Given the description of an element on the screen output the (x, y) to click on. 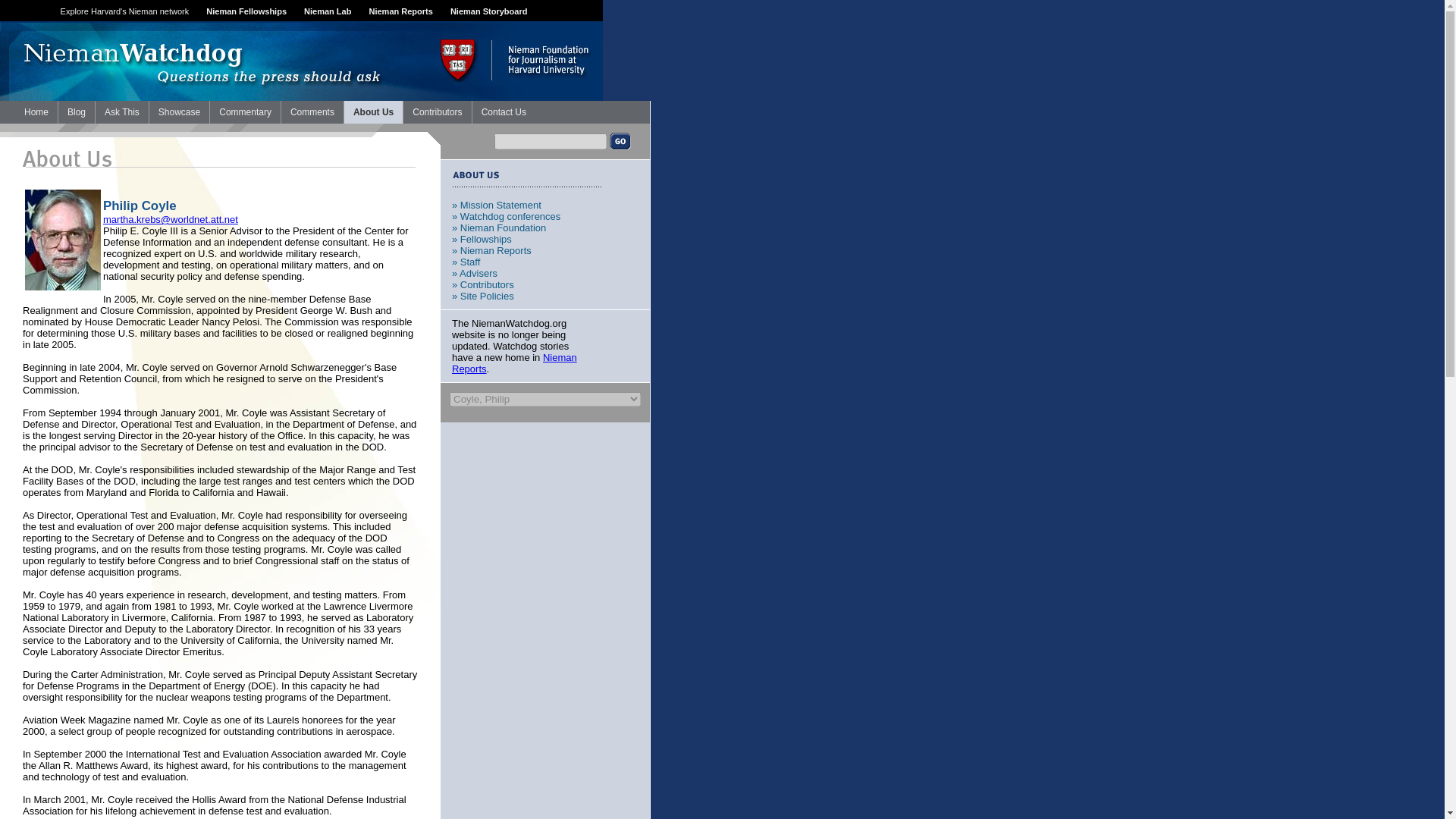
Nieman Storyboard (488, 10)
Ask This (122, 112)
Explore Harvard's Nieman network (125, 10)
Nieman Fellowships (246, 10)
Blog (76, 112)
Nieman Reports (400, 10)
Nieman Lab (327, 10)
Home (36, 112)
Comments (312, 112)
Commentary (245, 112)
Contact Us (503, 112)
Showcase (179, 112)
Contributors (436, 112)
About Us (373, 112)
